Given the description of an element on the screen output the (x, y) to click on. 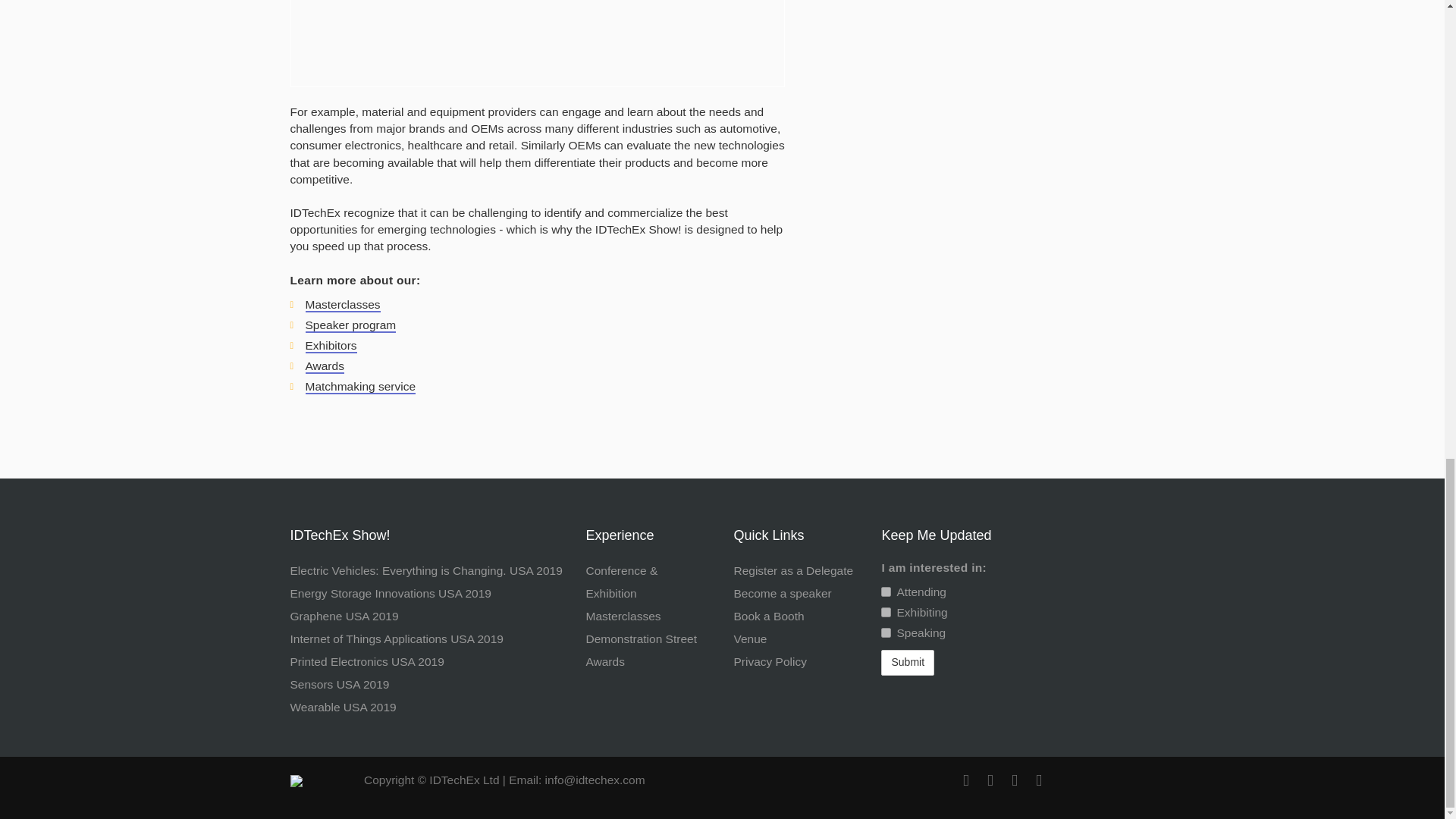
on (885, 612)
on (885, 633)
on (885, 592)
